Given the description of an element on the screen output the (x, y) to click on. 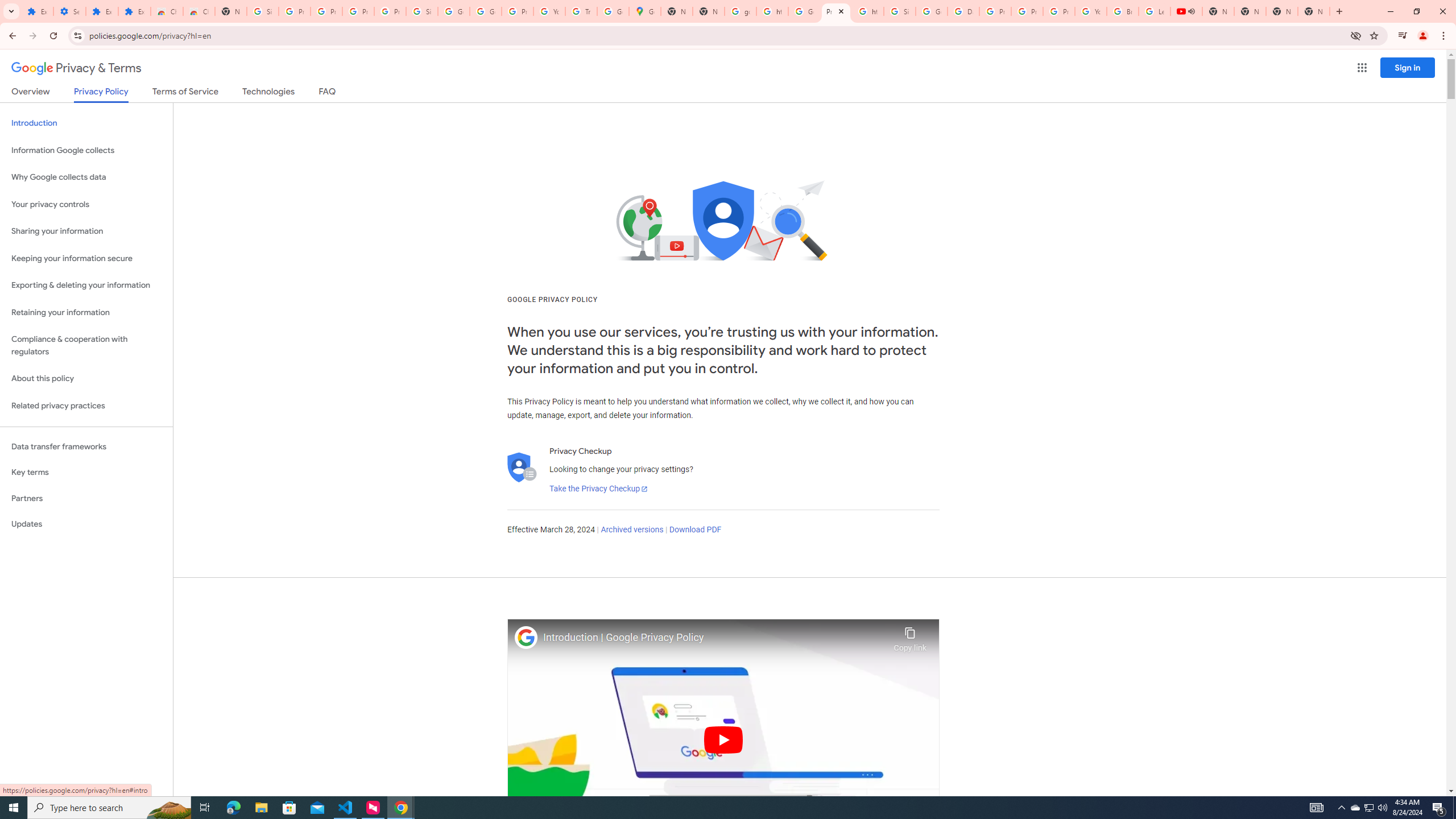
Key terms (86, 472)
Related privacy practices (86, 405)
About this policy (86, 379)
Play (723, 739)
FAQ (327, 93)
Copy link (909, 636)
